Given the description of an element on the screen output the (x, y) to click on. 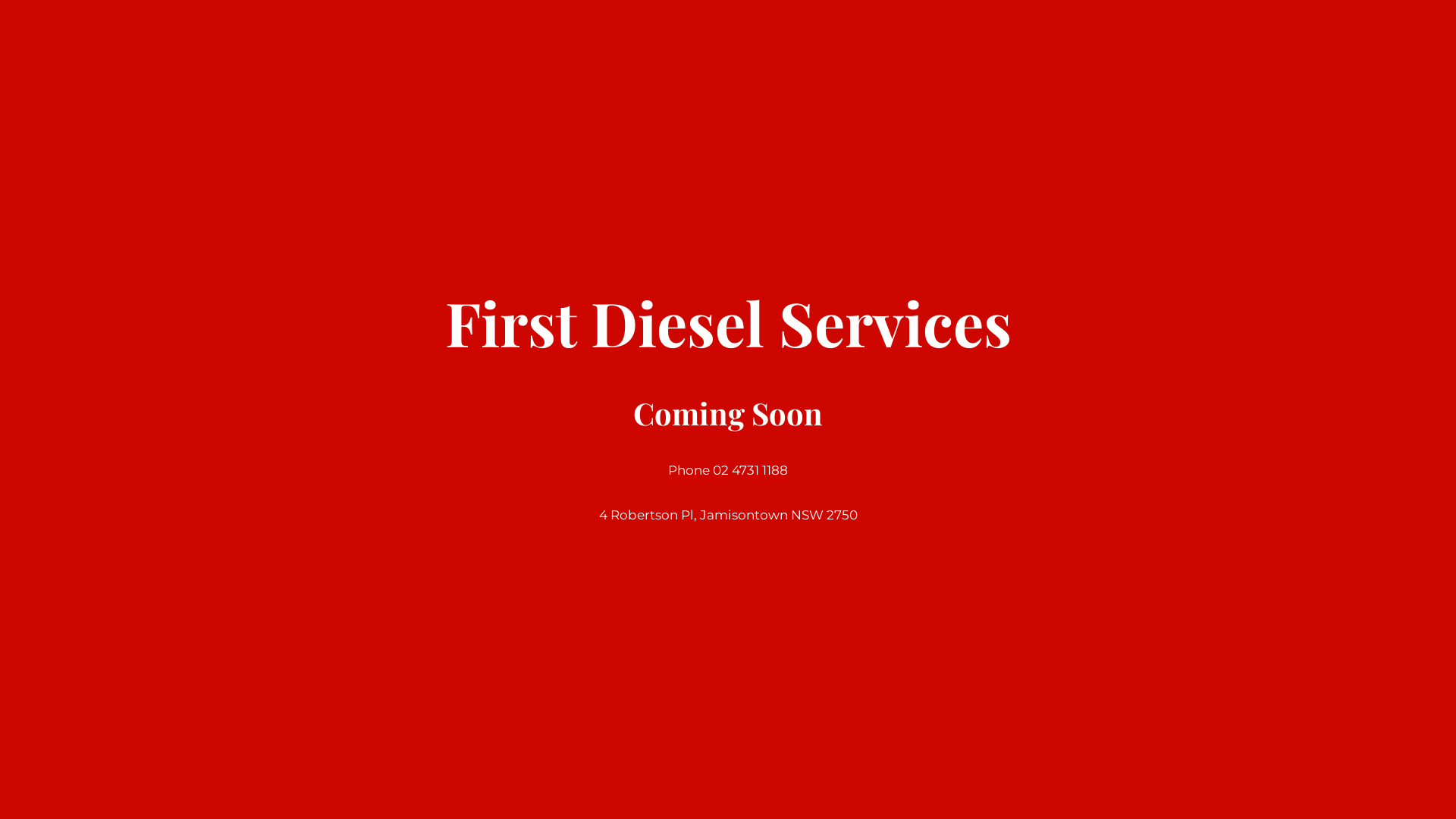
First Diesel Services Element type: text (727, 335)
